Given the description of an element on the screen output the (x, y) to click on. 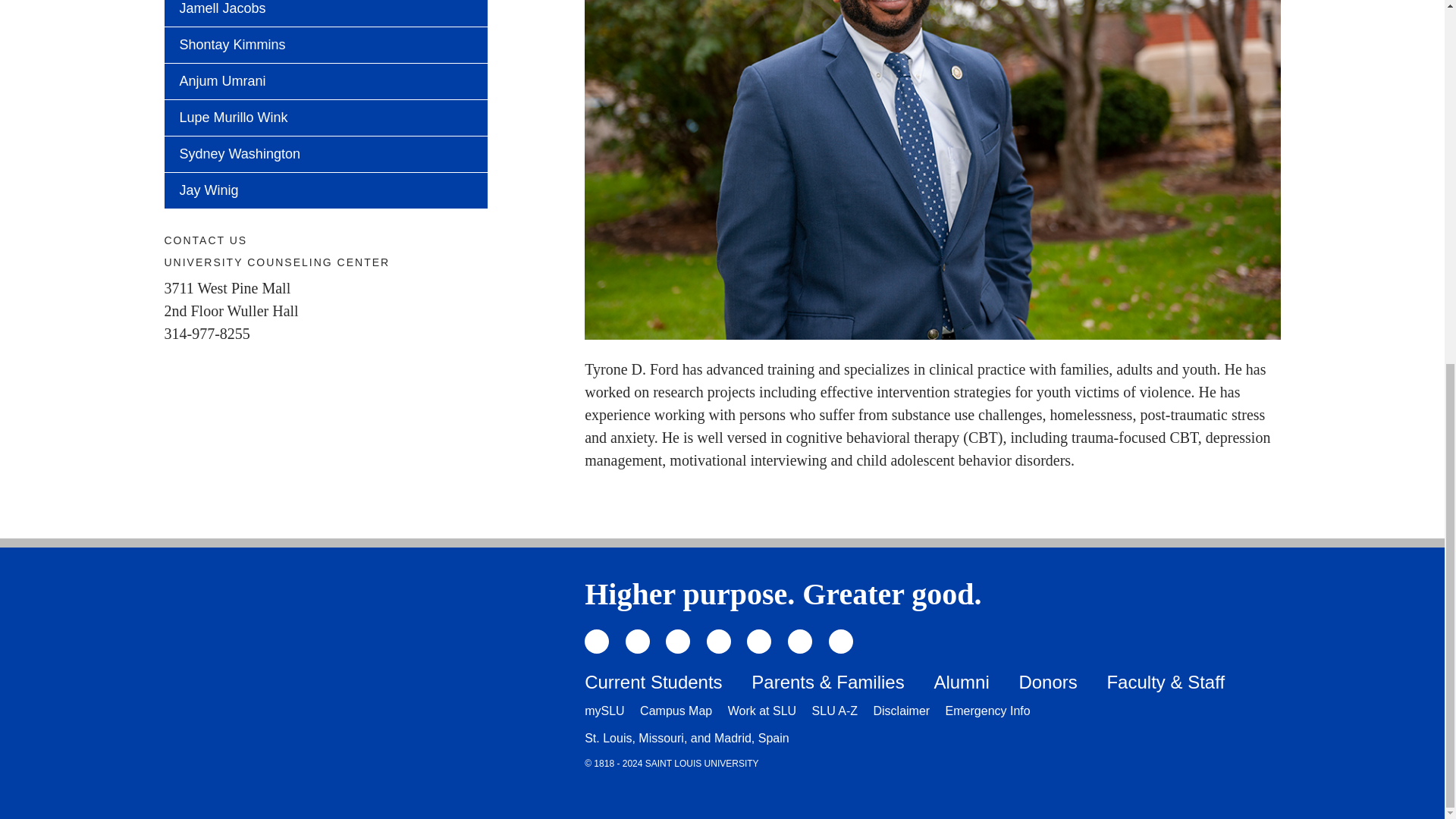
Anjum Umrani (325, 81)
Jamell Jacobs (325, 13)
Shontay Kimmins (325, 45)
